Given the description of an element on the screen output the (x, y) to click on. 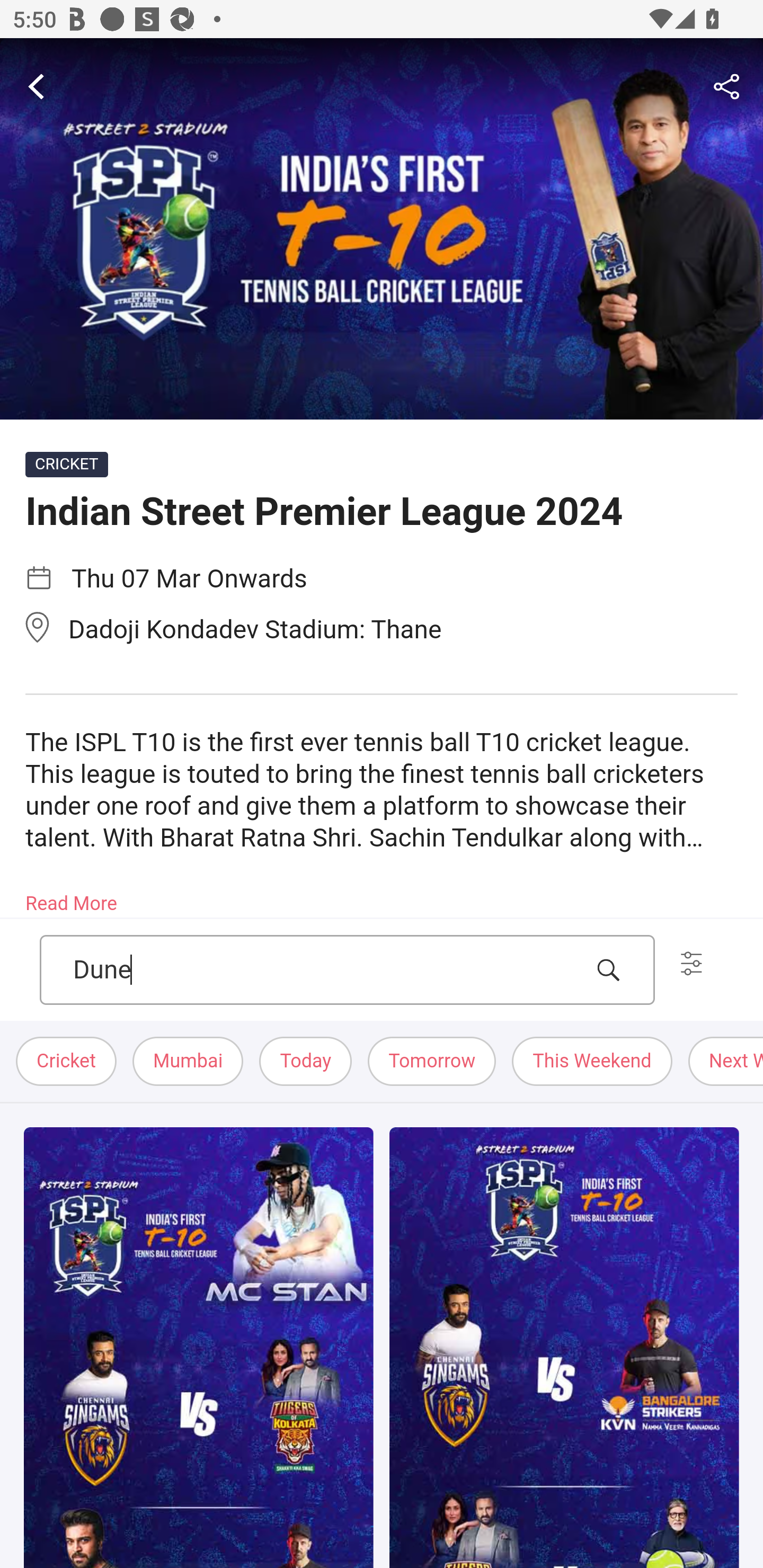
Indian Street Premier League 2024 (381, 228)
Read More (71, 897)
Dune (327, 970)
Cricket (66, 1061)
Mumbai (187, 1061)
Today (305, 1061)
Tomorrow (432, 1061)
This Weekend (591, 1061)
